Given the description of an element on the screen output the (x, y) to click on. 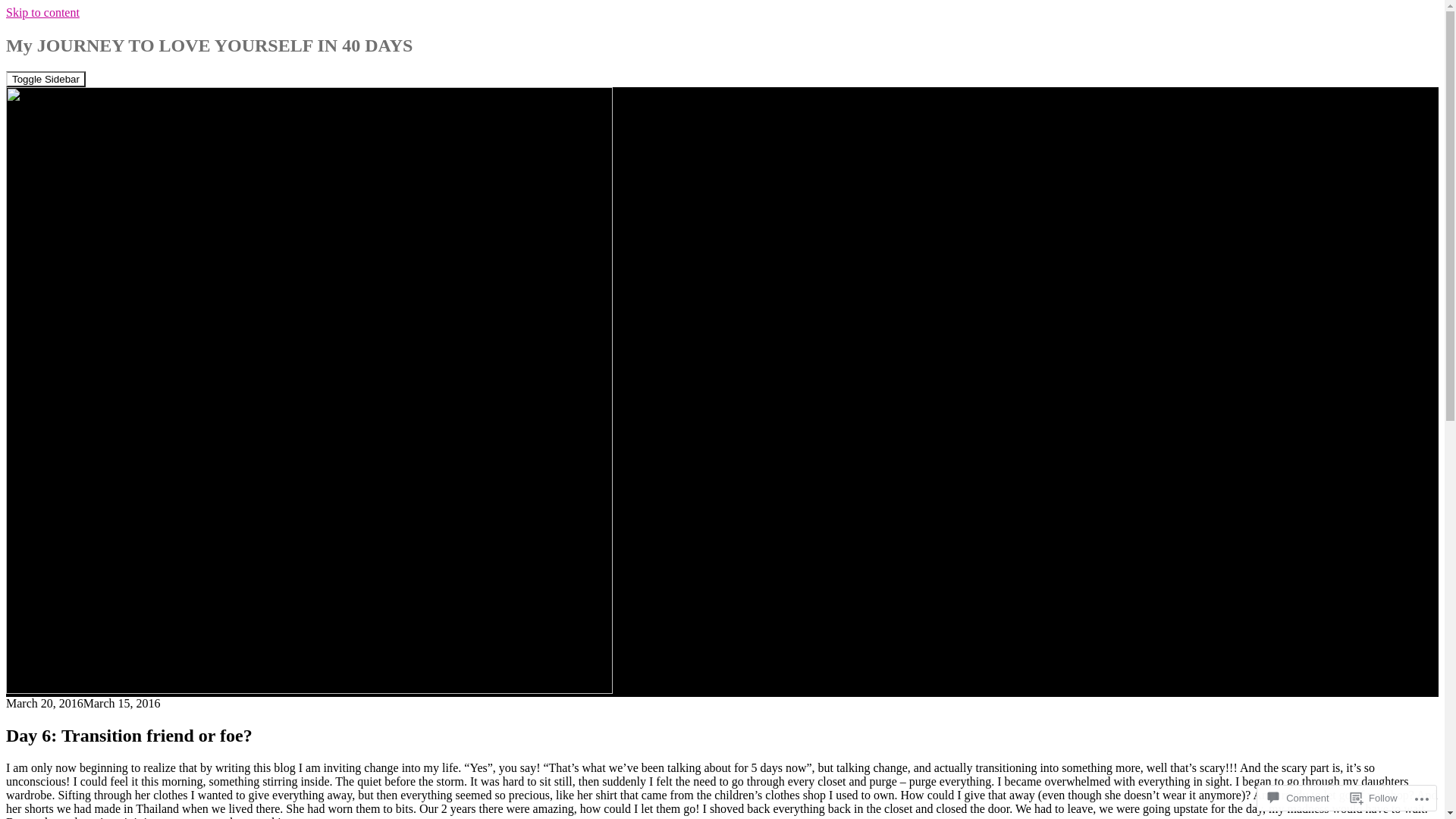
Comment Element type: text (1297, 797)
Follow Element type: text (1373, 797)
Skip to content Element type: text (42, 12)
Toggle Sidebar Element type: text (45, 79)
